Given the description of an element on the screen output the (x, y) to click on. 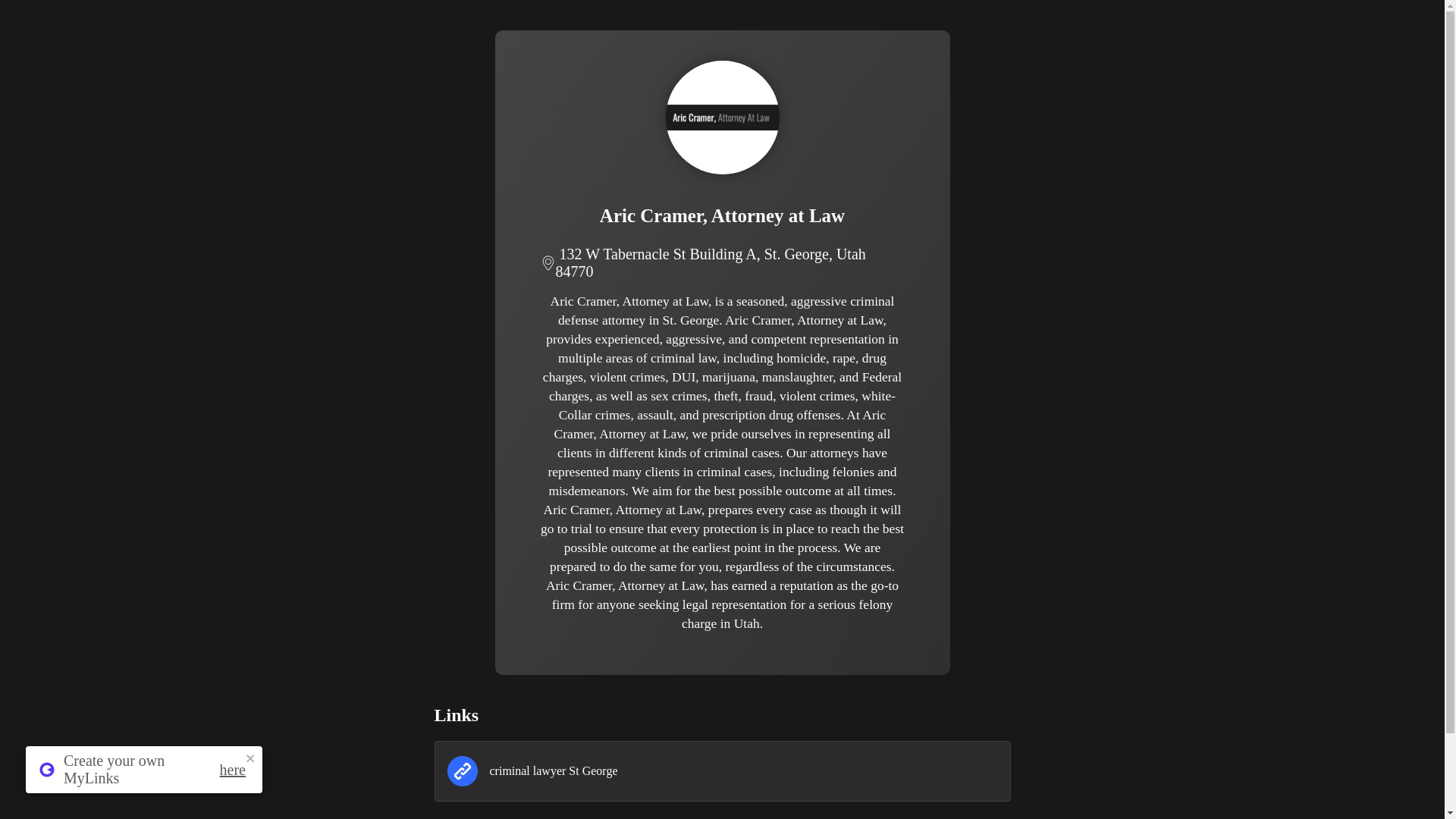
criminal lawyer St George (721, 771)
